Given the description of an element on the screen output the (x, y) to click on. 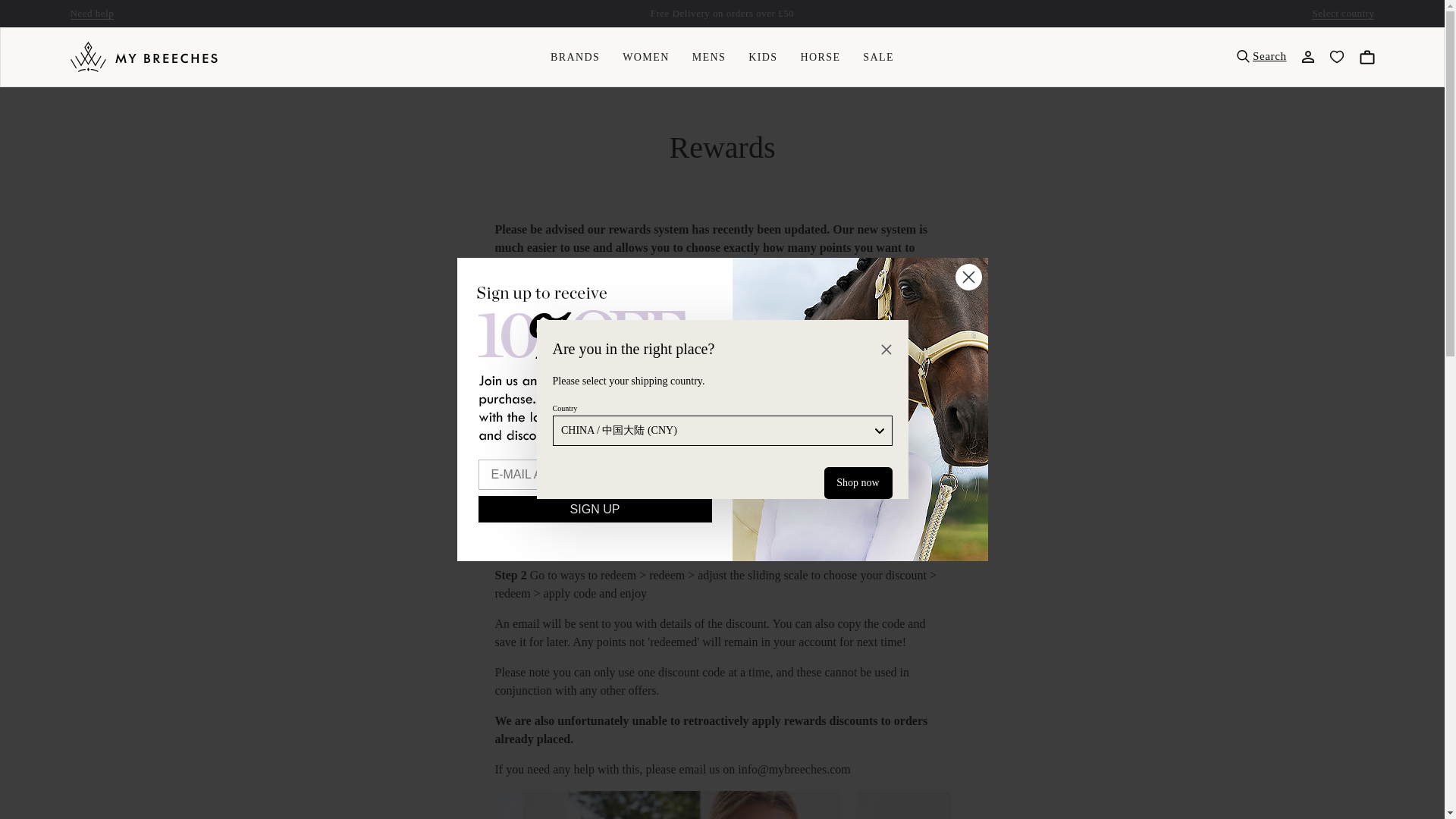
Need help (91, 13)
BRANDS (574, 56)
Select country (1342, 13)
My Breeches (142, 56)
My Breeches (142, 56)
WOMEN (645, 56)
Shop now (857, 482)
